Given the description of an element on the screen output the (x, y) to click on. 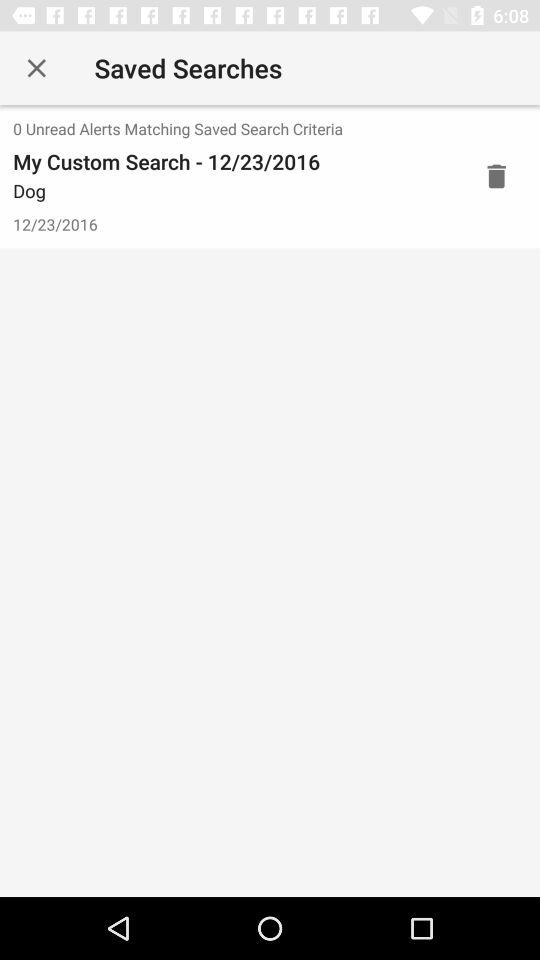
select the item to the right of the my custom search item (496, 176)
